Given the description of an element on the screen output the (x, y) to click on. 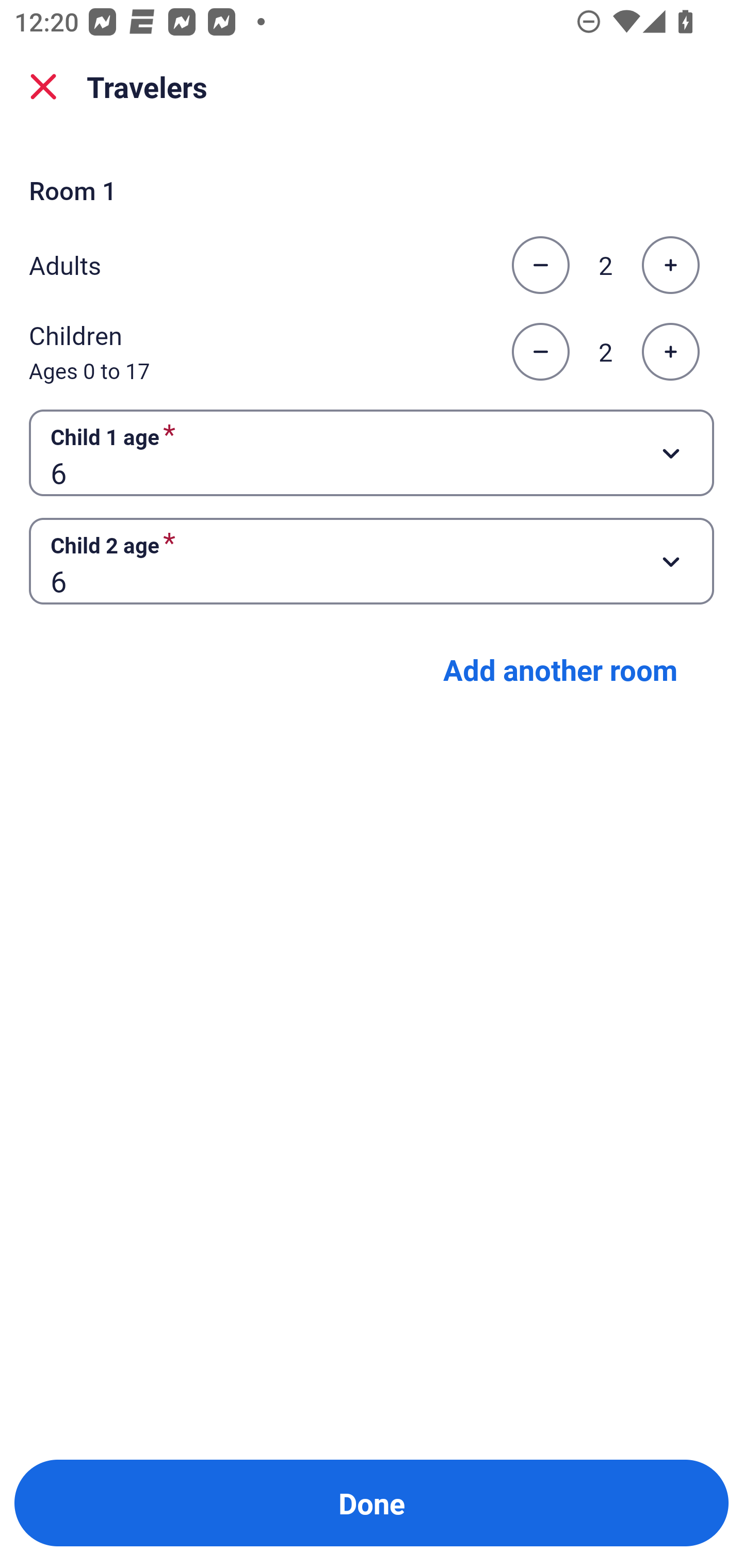
close (43, 86)
Decrease the number of adults (540, 264)
Increase the number of adults (670, 264)
Decrease the number of children (540, 351)
Increase the number of children (670, 351)
Child 1 age required Button 6 (371, 452)
Child 2 age required Button 6 (371, 561)
Add another room (560, 669)
Done (371, 1502)
